Given the description of an element on the screen output the (x, y) to click on. 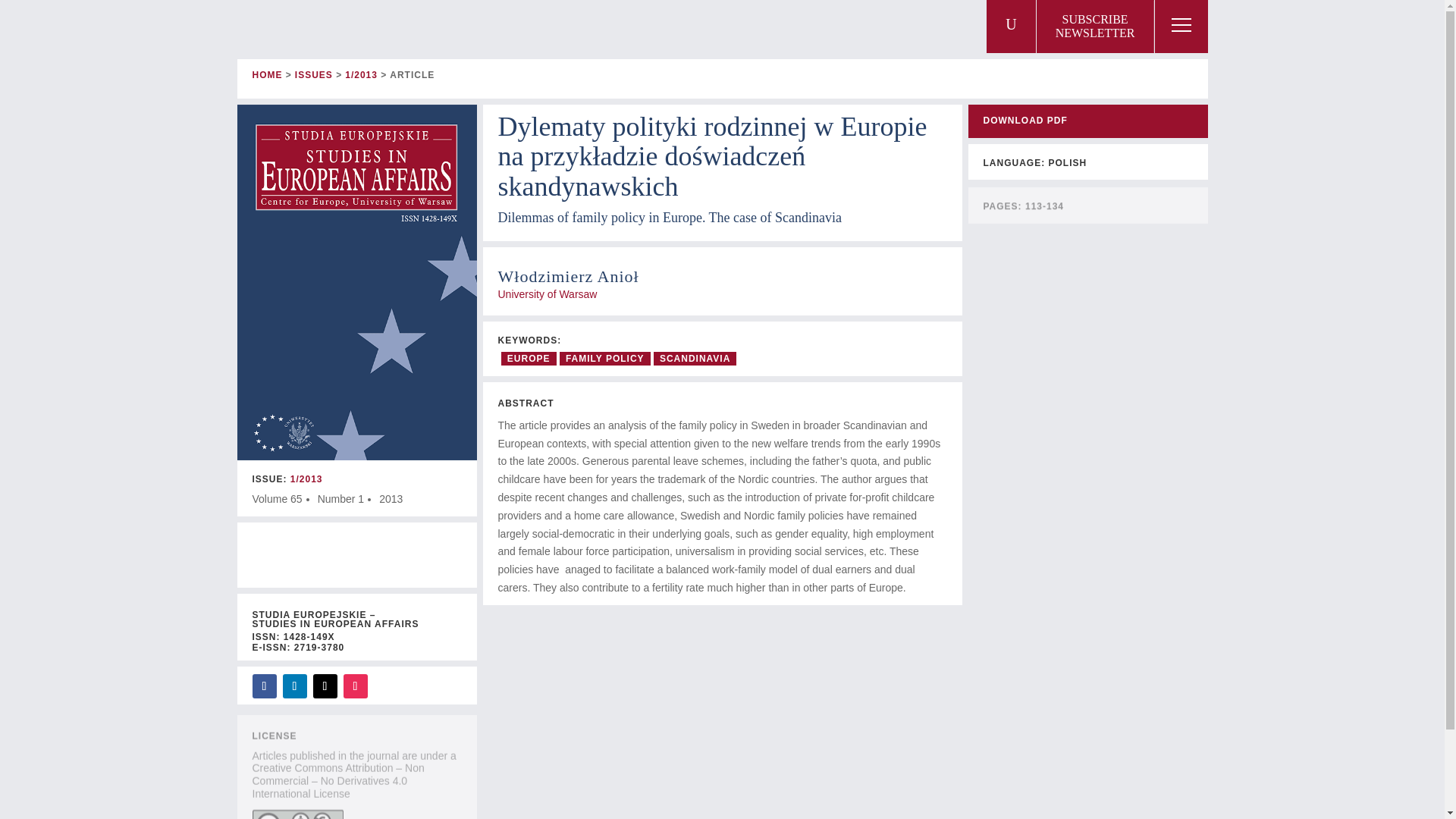
Follow on Instagram (354, 686)
Follow on Facebook (263, 686)
Follow on X (324, 686)
ISSUES (314, 74)
HOME (266, 74)
Follow on LinkedIn (1095, 26)
